Given the description of an element on the screen output the (x, y) to click on. 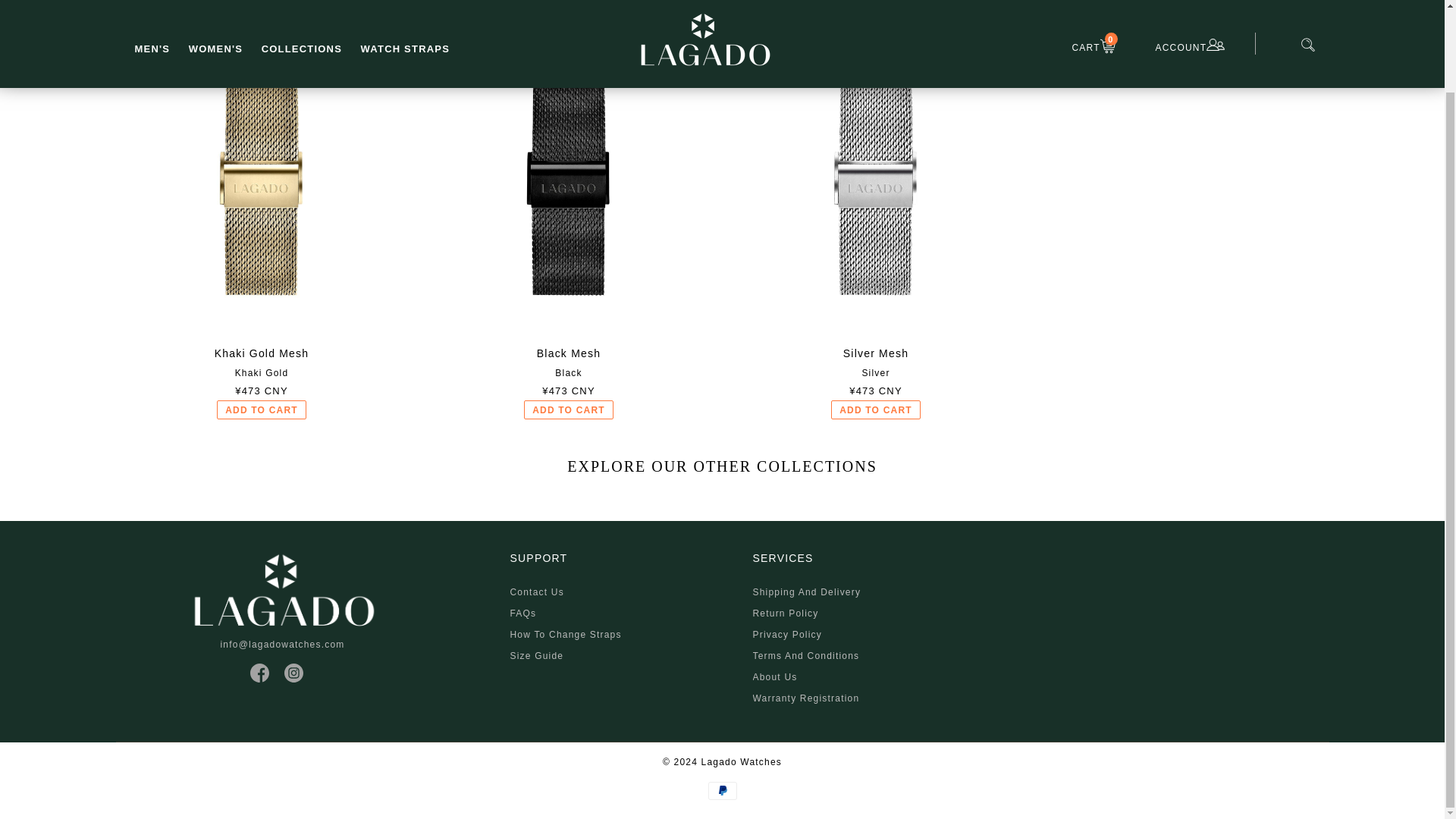
Khaki Gold Mesh (262, 353)
Add to cart (568, 409)
Lagado Watches on Facebook (259, 672)
Lagado Watches on Instagram (292, 672)
Add to cart (875, 409)
Add to cart (875, 409)
Add to cart (260, 409)
Add to cart (568, 409)
Add to cart (260, 409)
